Given the description of an element on the screen output the (x, y) to click on. 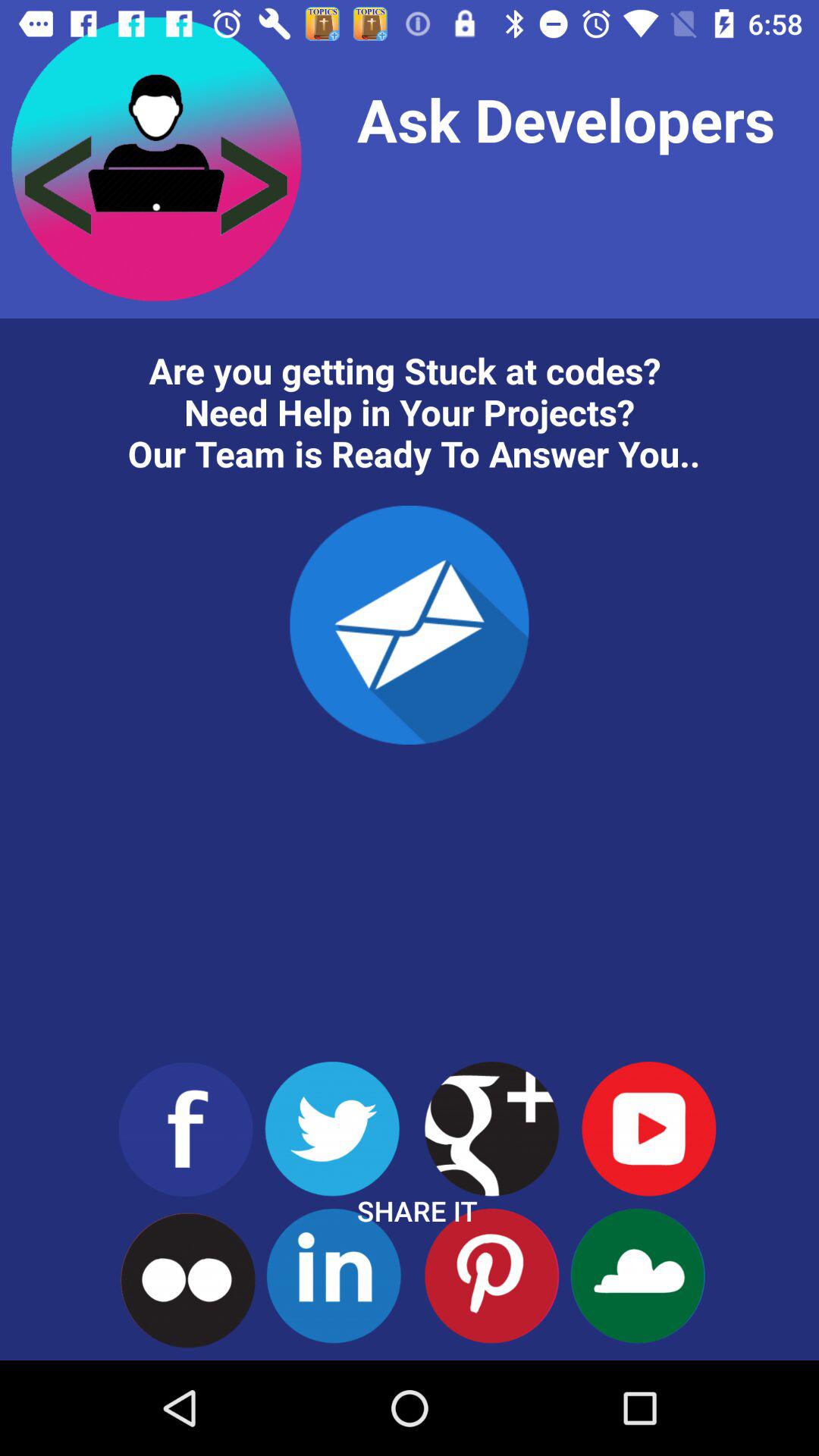
scroll until share it (417, 1210)
